Given the description of an element on the screen output the (x, y) to click on. 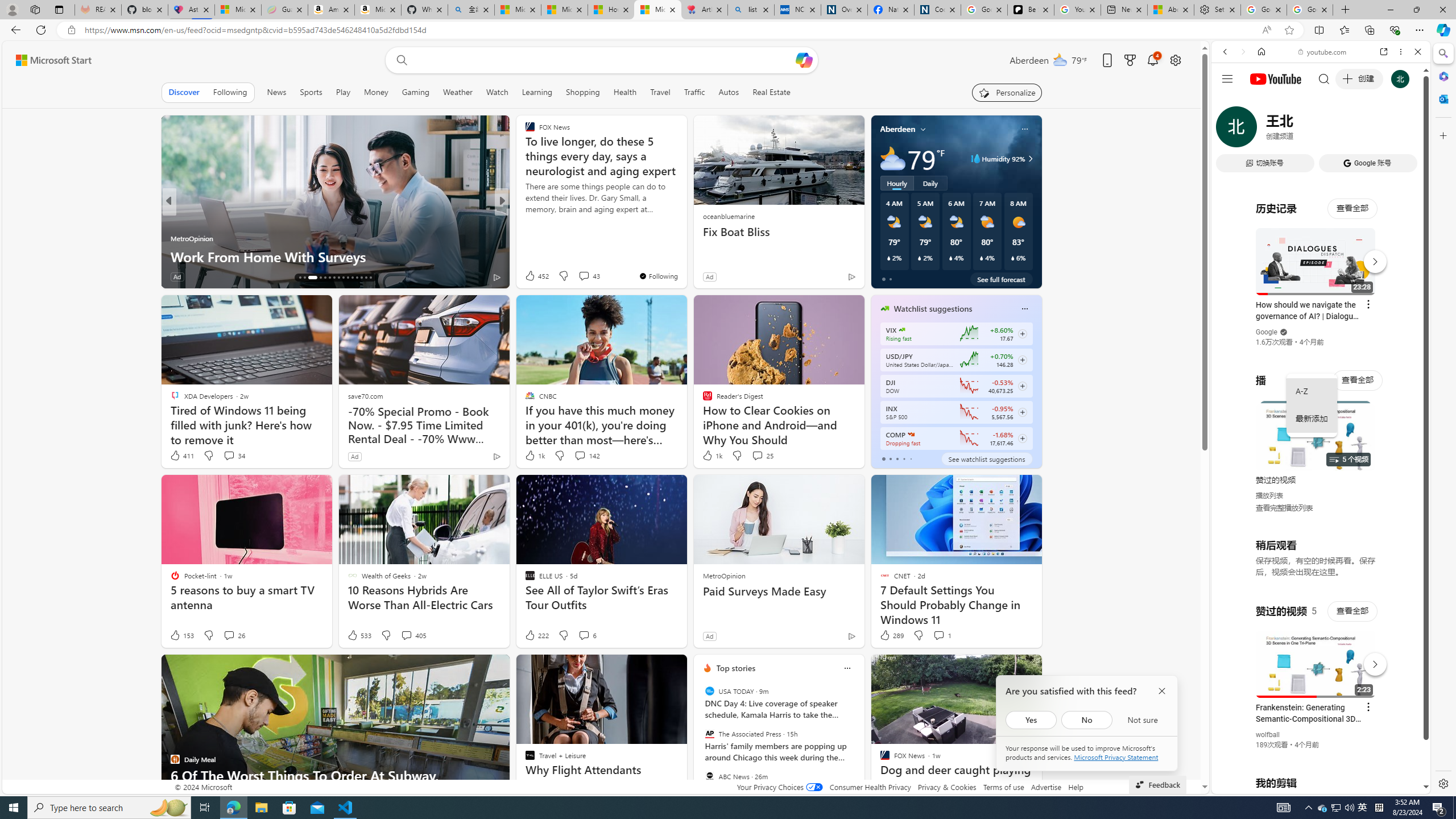
Microsoft-Report a Concern to Bing (237, 9)
Personalize your feed" (1007, 92)
Following (229, 92)
More options (1401, 51)
WEB   (1230, 130)
View comments 7 Comment (580, 276)
